Given the description of an element on the screen output the (x, y) to click on. 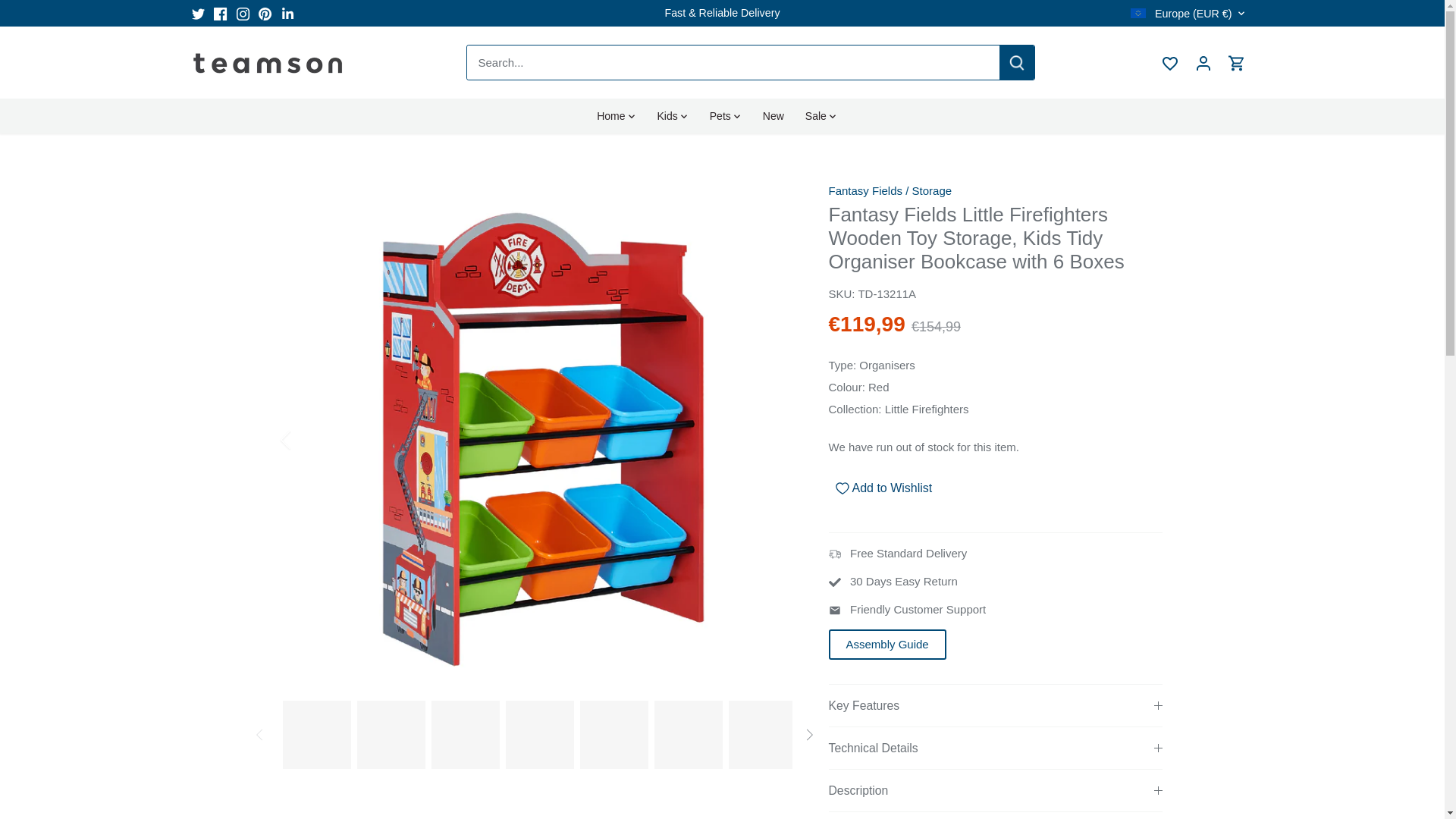
Pinterest (265, 13)
Facebook (220, 13)
Home (615, 115)
Twitter (196, 13)
Instagram (241, 13)
